Given the description of an element on the screen output the (x, y) to click on. 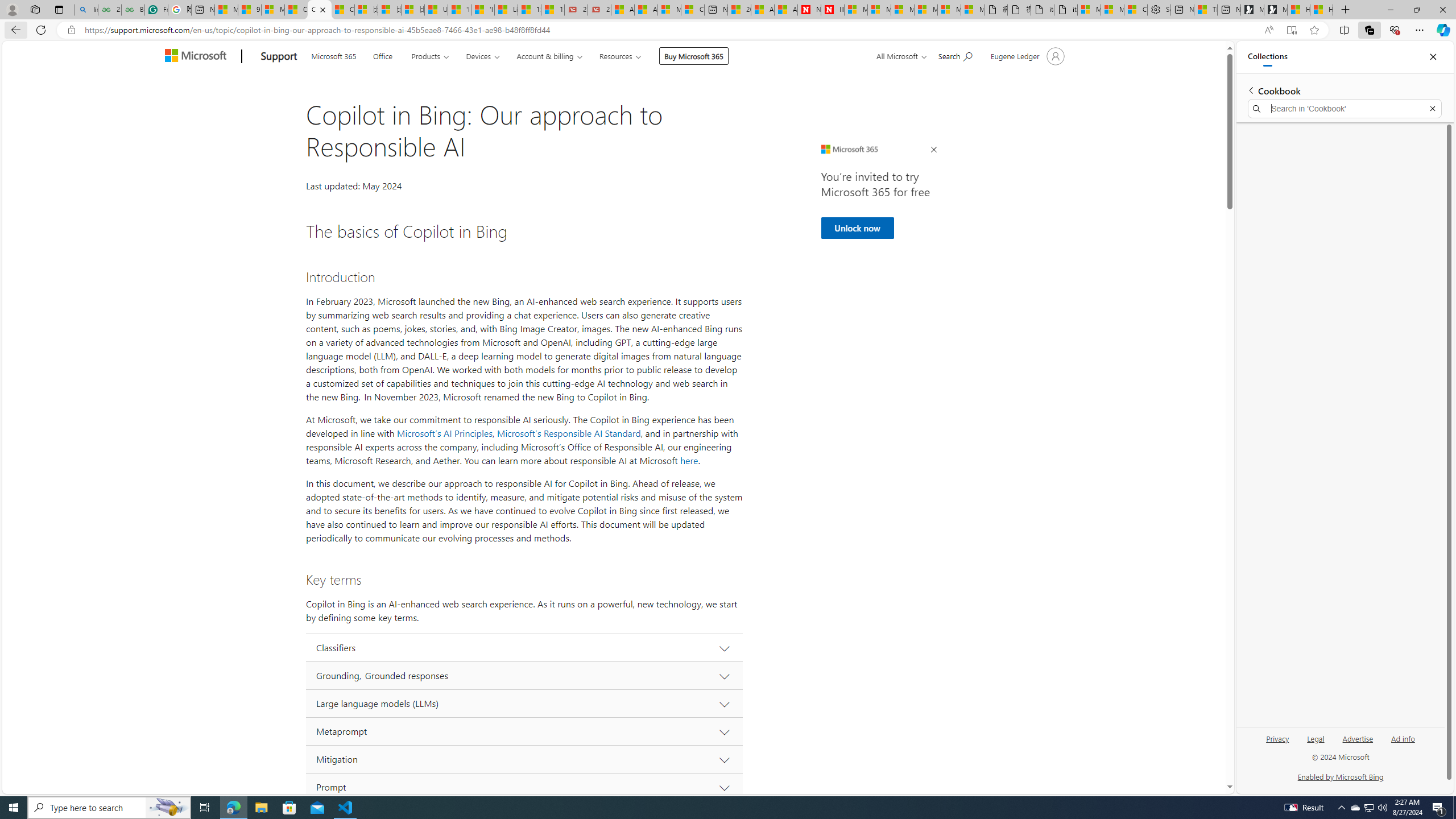
Back to list of collections (1250, 90)
Search for help (954, 54)
Search in 'Cookbook' (1345, 108)
Buy Microsoft 365 (693, 55)
21 Movies That Outdid the Books They Were Based On (598, 9)
Account manager for Eugene Ledger (1025, 55)
Exit search (1432, 108)
